Given the description of an element on the screen output the (x, y) to click on. 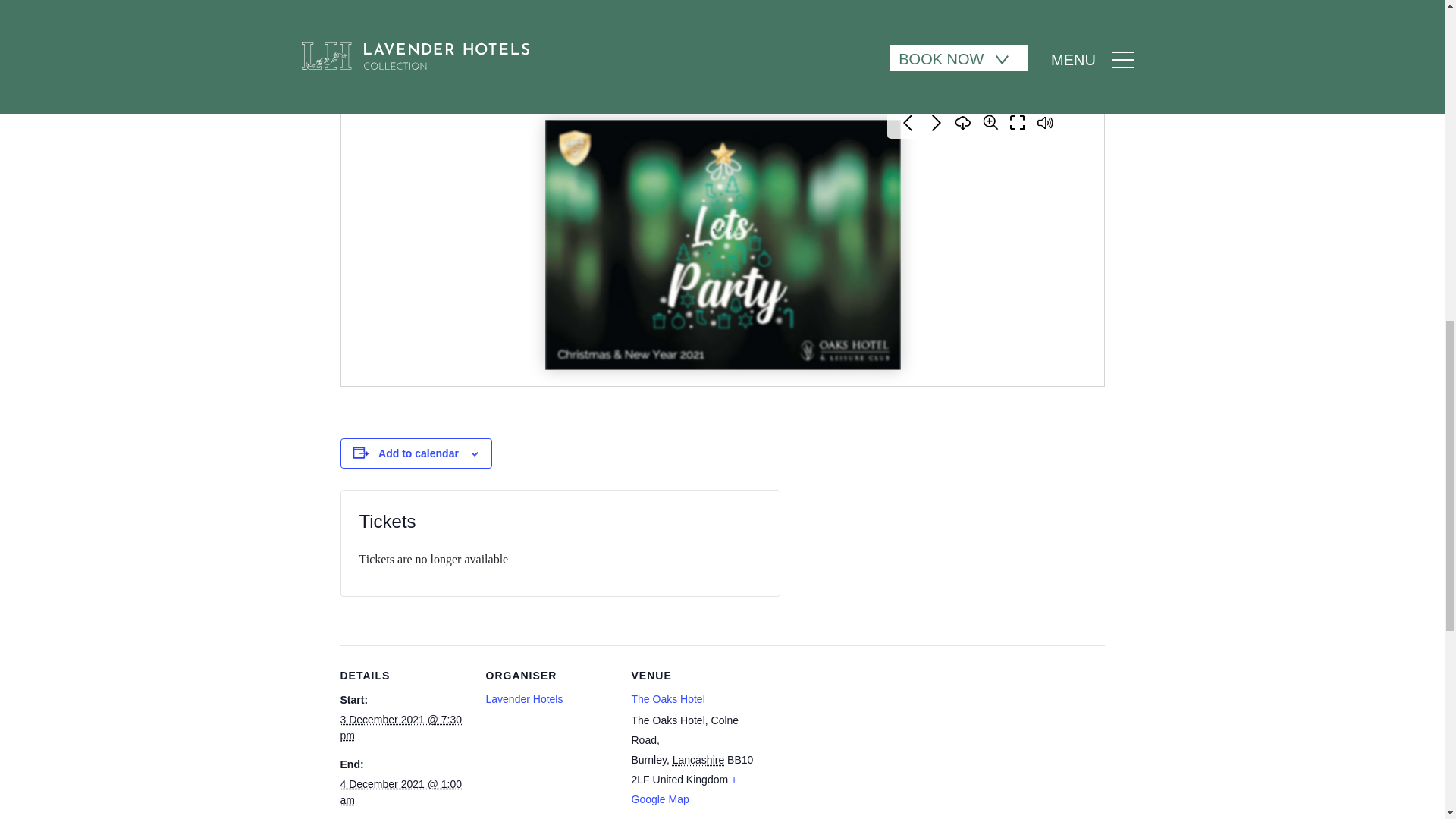
Google maps iframe displaying the address to The Oaks Hotel (856, 744)
Lavender Hotels (523, 698)
The Oaks Hotel (667, 698)
2021-12-03 (400, 727)
Lavender Hotels (523, 698)
Click to view a Google Map (683, 789)
Add to calendar (418, 453)
Lancashire (698, 759)
2021-12-04 (400, 791)
